Given the description of an element on the screen output the (x, y) to click on. 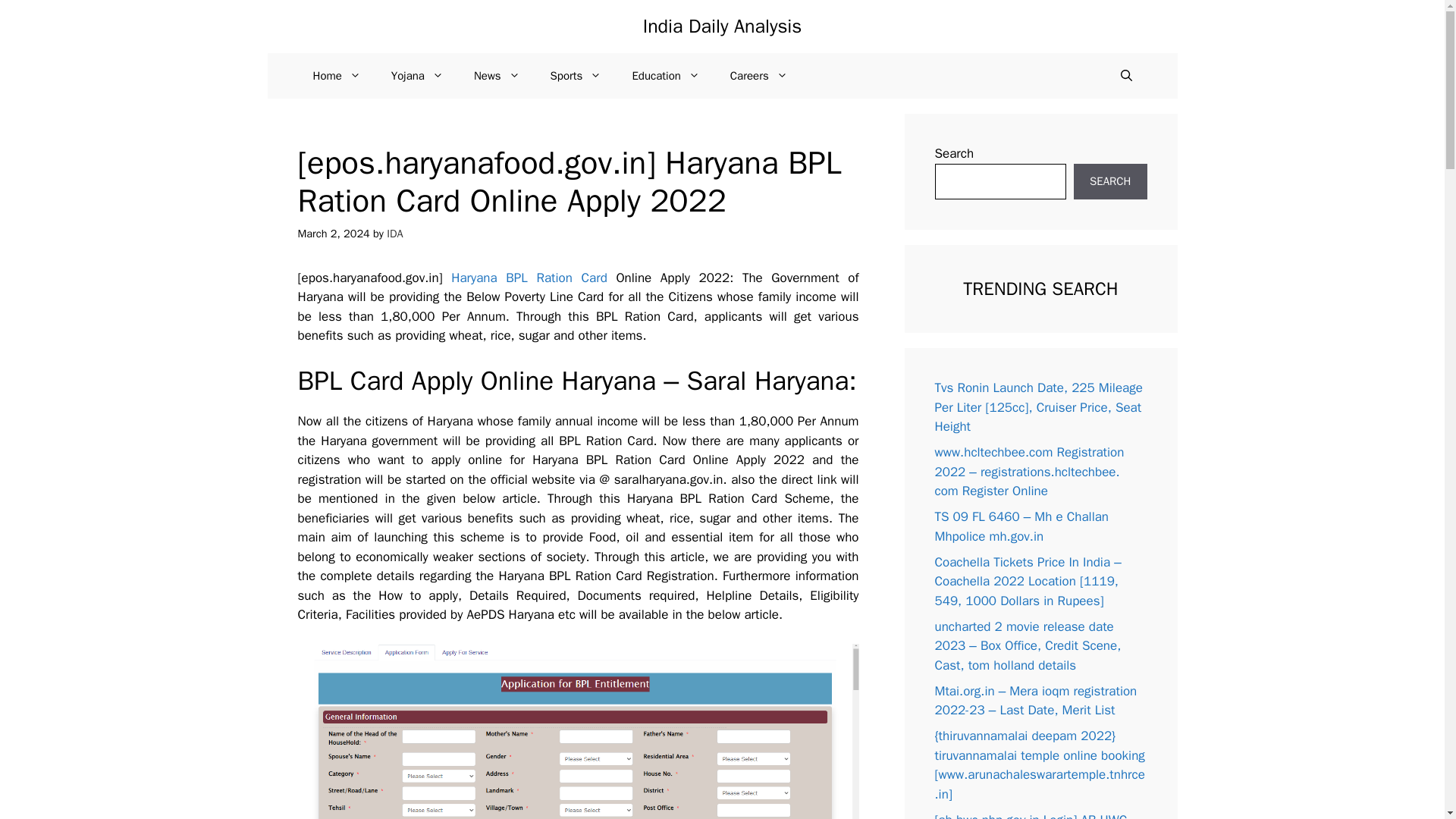
View all posts by IDA (395, 233)
Education (664, 75)
News (496, 75)
Yojana (416, 75)
Home (336, 75)
India Daily Analysis (722, 25)
Sports (576, 75)
